Given the description of an element on the screen output the (x, y) to click on. 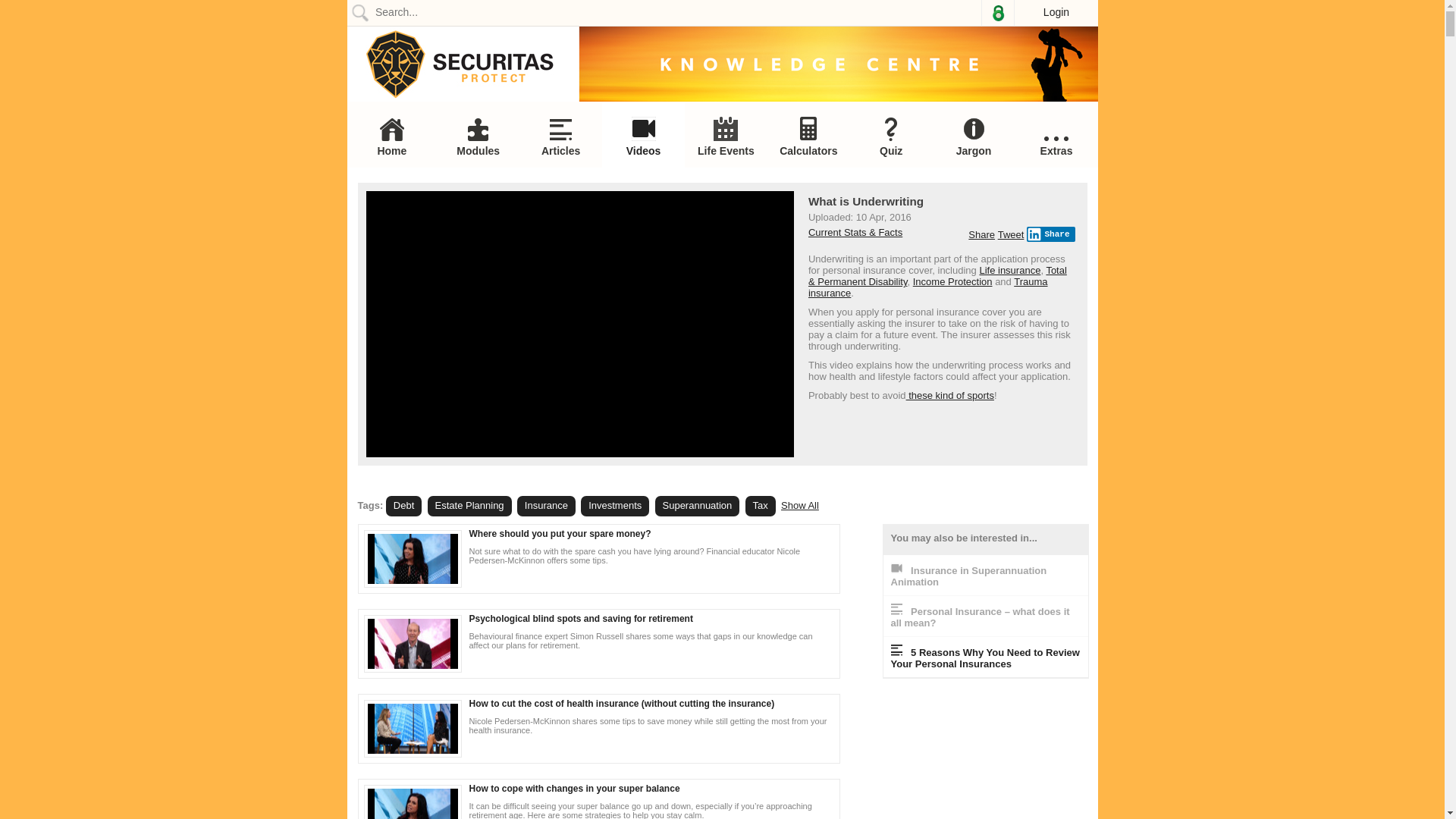
Show All Element type: text (800, 505)
Quiz Element type: text (891, 136)
Income Protection Element type: text (952, 281)
Modules Element type: text (477, 136)
Extras Element type: text (1056, 146)
Investments Element type: text (614, 505)
Home Element type: text (392, 136)
Life insurance Element type: text (1009, 270)
Estate Planning Element type: text (469, 505)
Total & Permanent Disability Element type: text (937, 275)
these kind of sports Element type: text (950, 395)
Tax Element type: text (760, 505)
How to cope with changes in your super balance Element type: text (573, 788)
Articles Element type: text (560, 137)
Psychological blind spots and saving for retirement Element type: text (580, 618)
Share Element type: text (1050, 233)
Tweet Element type: text (1010, 234)
Life Events Element type: text (725, 136)
Videos Element type: text (643, 136)
Trauma insurance Element type: text (928, 287)
Jargon Element type: text (973, 136)
Share Element type: text (981, 234)
Debt Element type: text (403, 505)
Where should you put your spare money? Element type: text (559, 533)
Current Stats & Facts Element type: text (855, 232)
Insurance Element type: text (546, 505)
5 Reasons Why You Need to Review Your Personal Insurances Element type: text (984, 657)
Superannuation Element type: text (697, 505)
Insurance in Superannuation Animation Element type: text (968, 575)
Calculators Element type: text (808, 136)
